Given the description of an element on the screen output the (x, y) to click on. 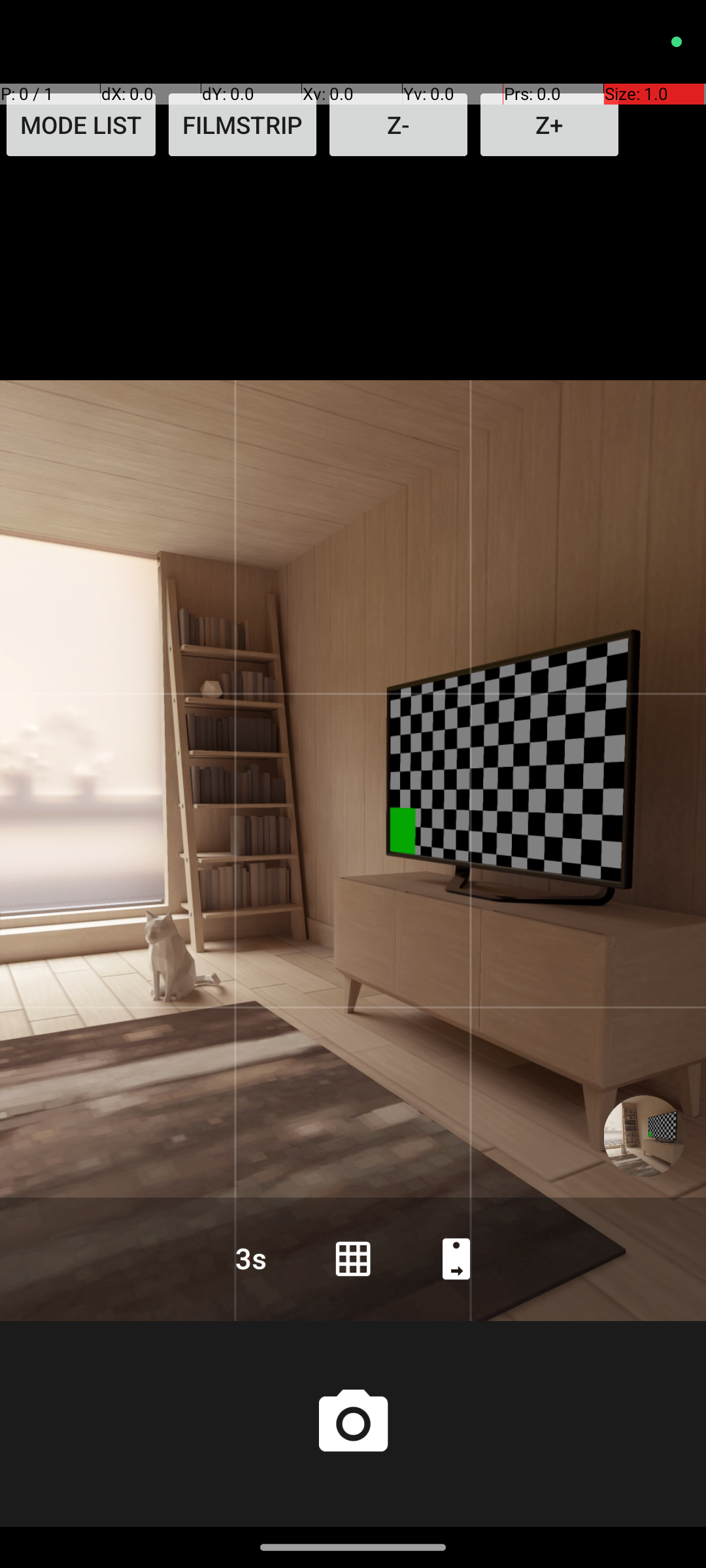
Countdown timer duration is set to 3 seconds Element type: android.widget.ImageButton (249, 1258)
Grid lines on Element type: android.widget.ImageButton (352, 1258)
Back camera Element type: android.widget.ImageButton (456, 1258)
